Given the description of an element on the screen output the (x, y) to click on. 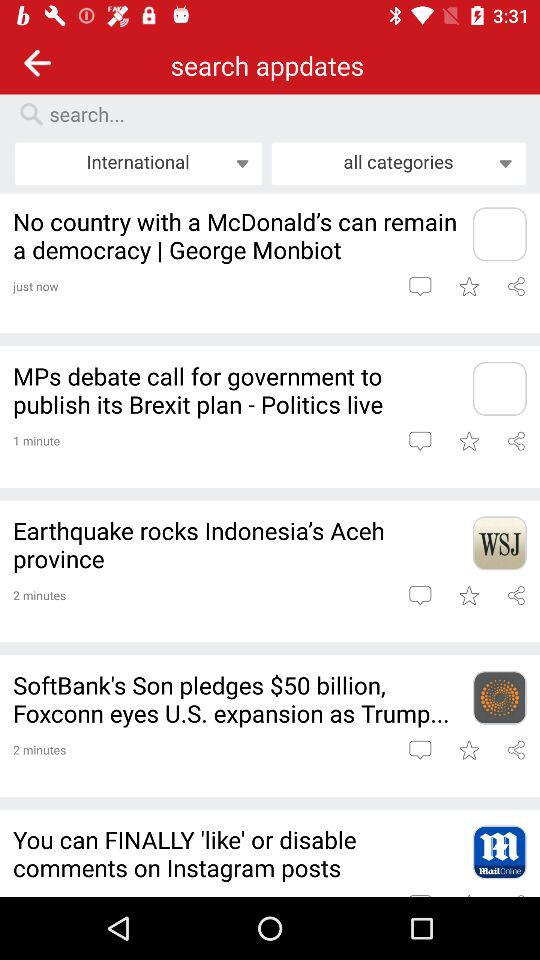
choose all categories icon (398, 163)
